Given the description of an element on the screen output the (x, y) to click on. 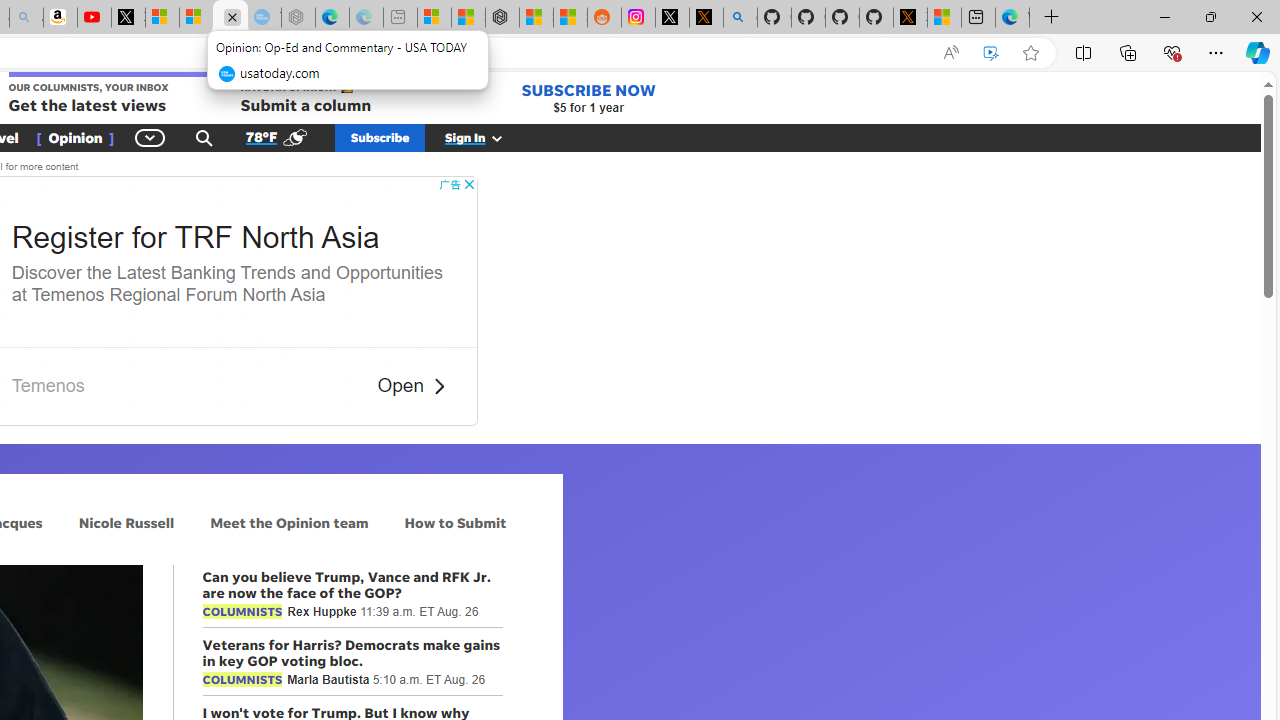
github - Search (740, 17)
Enhance video (991, 53)
SUBSCRIBE NOW $5 for 1 year (588, 97)
Temenos (47, 385)
The most popular Google 'how to' searches - Sleeping (264, 17)
Class: ns-dqusr-e-25 (438, 386)
Minimize (1164, 16)
X Privacy Policy (909, 17)
Read aloud this page (Ctrl+Shift+U) (950, 53)
Sign In (485, 137)
Close (1256, 16)
Nordace - Duffels (502, 17)
Log in to X / X (671, 17)
